Given the description of an element on the screen output the (x, y) to click on. 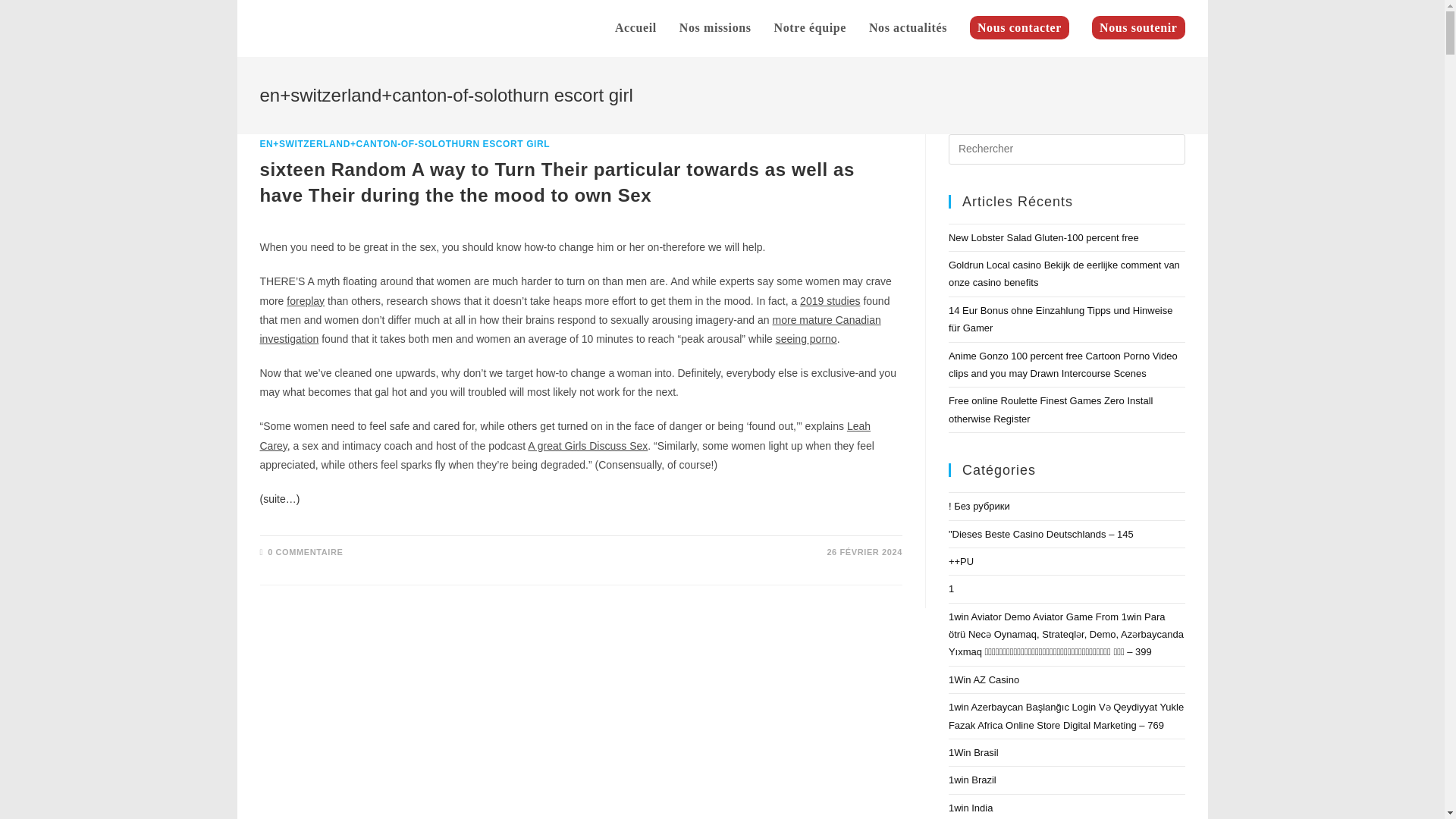
1Win Brasil (973, 752)
Nous soutenir (1137, 28)
1win India (970, 808)
1Win AZ Casino (984, 679)
Nos missions (715, 28)
Nous contacter (1019, 28)
Accueil (636, 28)
